Given the description of an element on the screen output the (x, y) to click on. 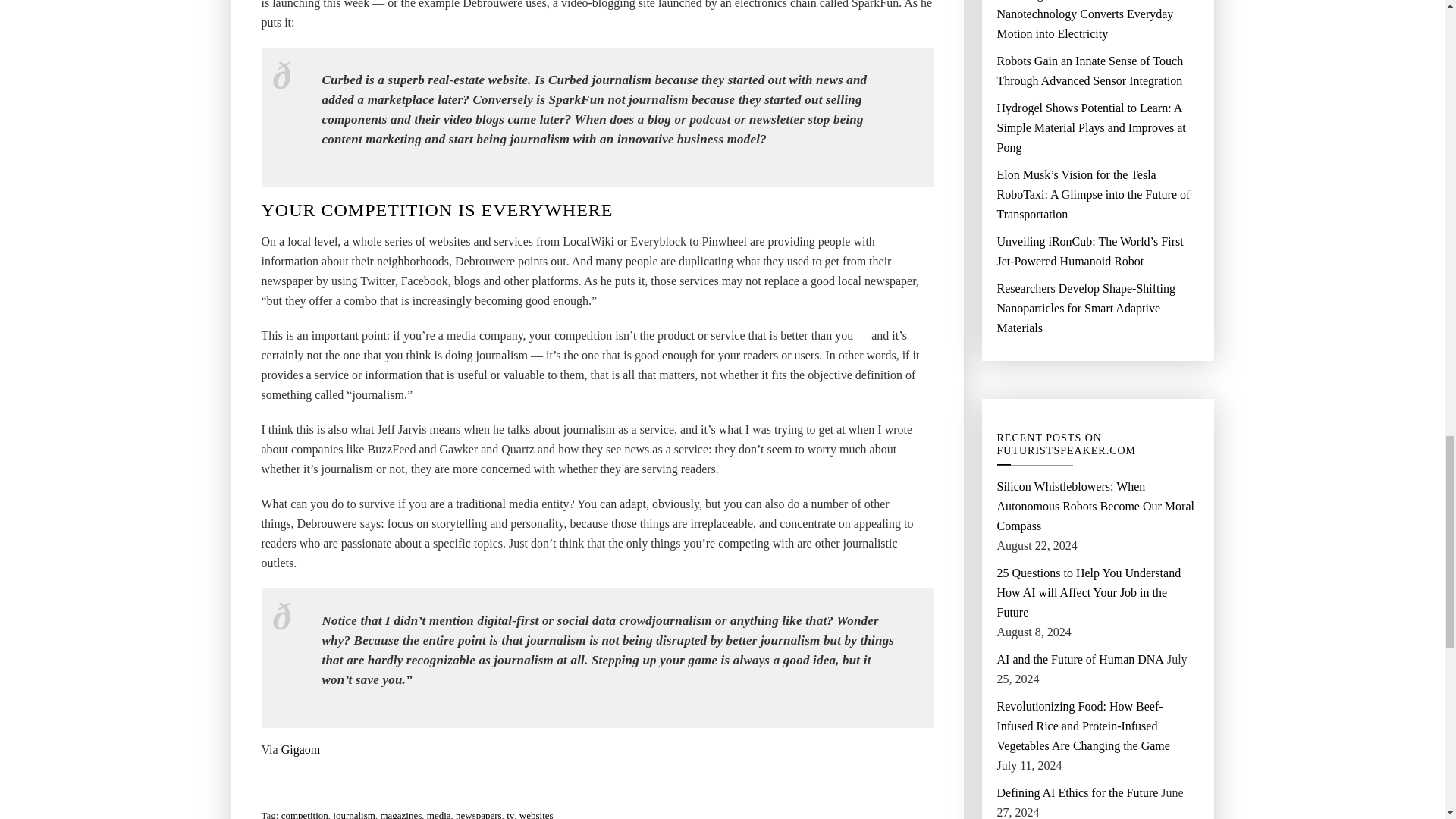
Gigaom (300, 750)
media (438, 812)
journalism (354, 812)
newspapers (478, 812)
websites (536, 812)
magazines (401, 812)
competition (305, 812)
